Given the description of an element on the screen output the (x, y) to click on. 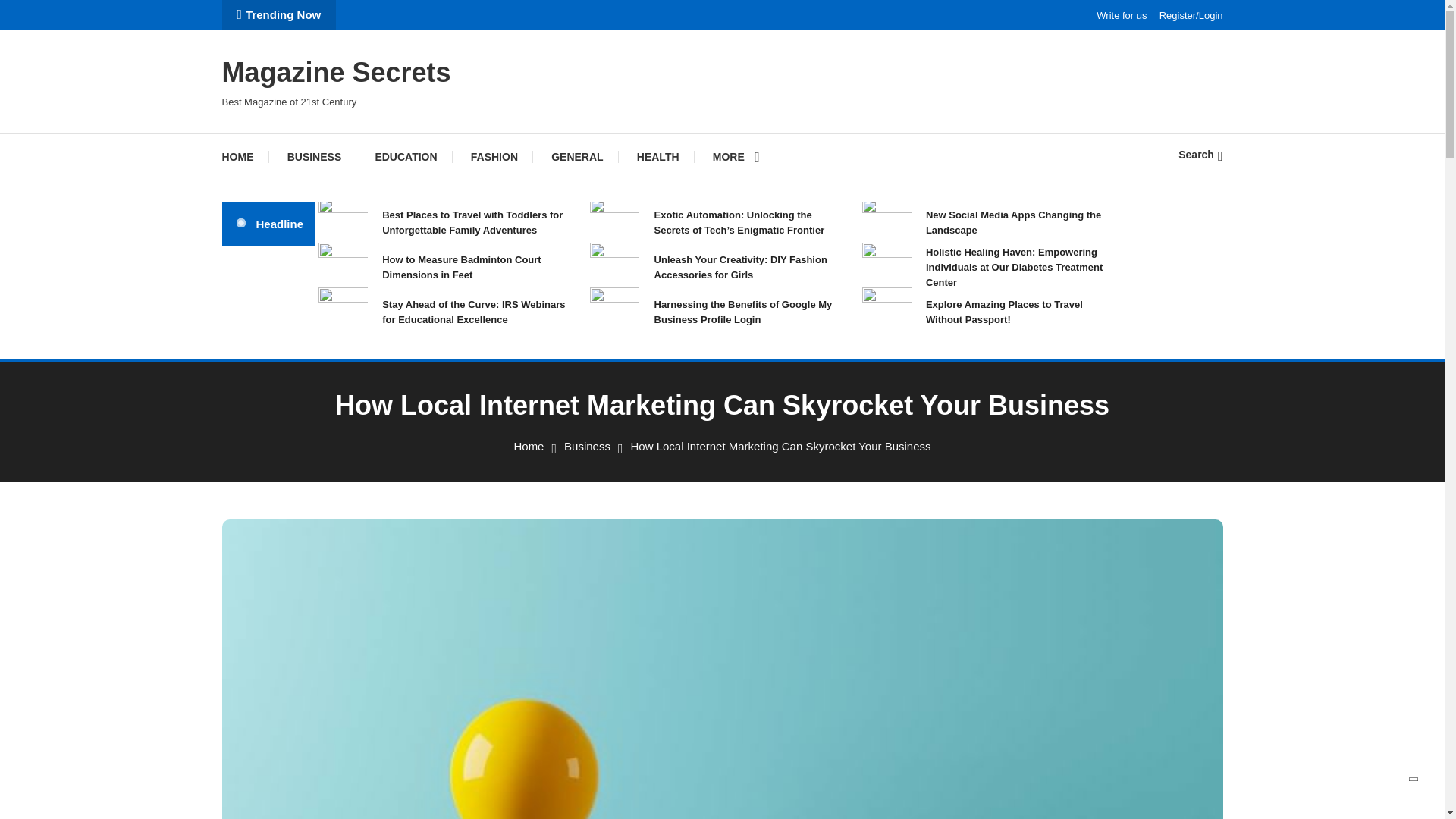
Magazine Secrets (335, 71)
GENERAL (576, 156)
How to Measure Badminton Court Dimensions in Feet (476, 267)
Search (1200, 154)
Explore Amazing Places to Travel Without Passport! (1020, 312)
Harnessing the Benefits of Google My Business Profile Login (748, 312)
Business (587, 445)
HEALTH (657, 156)
HOME (244, 156)
MORE (735, 156)
EDUCATION (405, 156)
Search (768, 434)
BUSINESS (314, 156)
Unleash Your Creativity: DIY Fashion Accessories for Girls (748, 267)
